Given the description of an element on the screen output the (x, y) to click on. 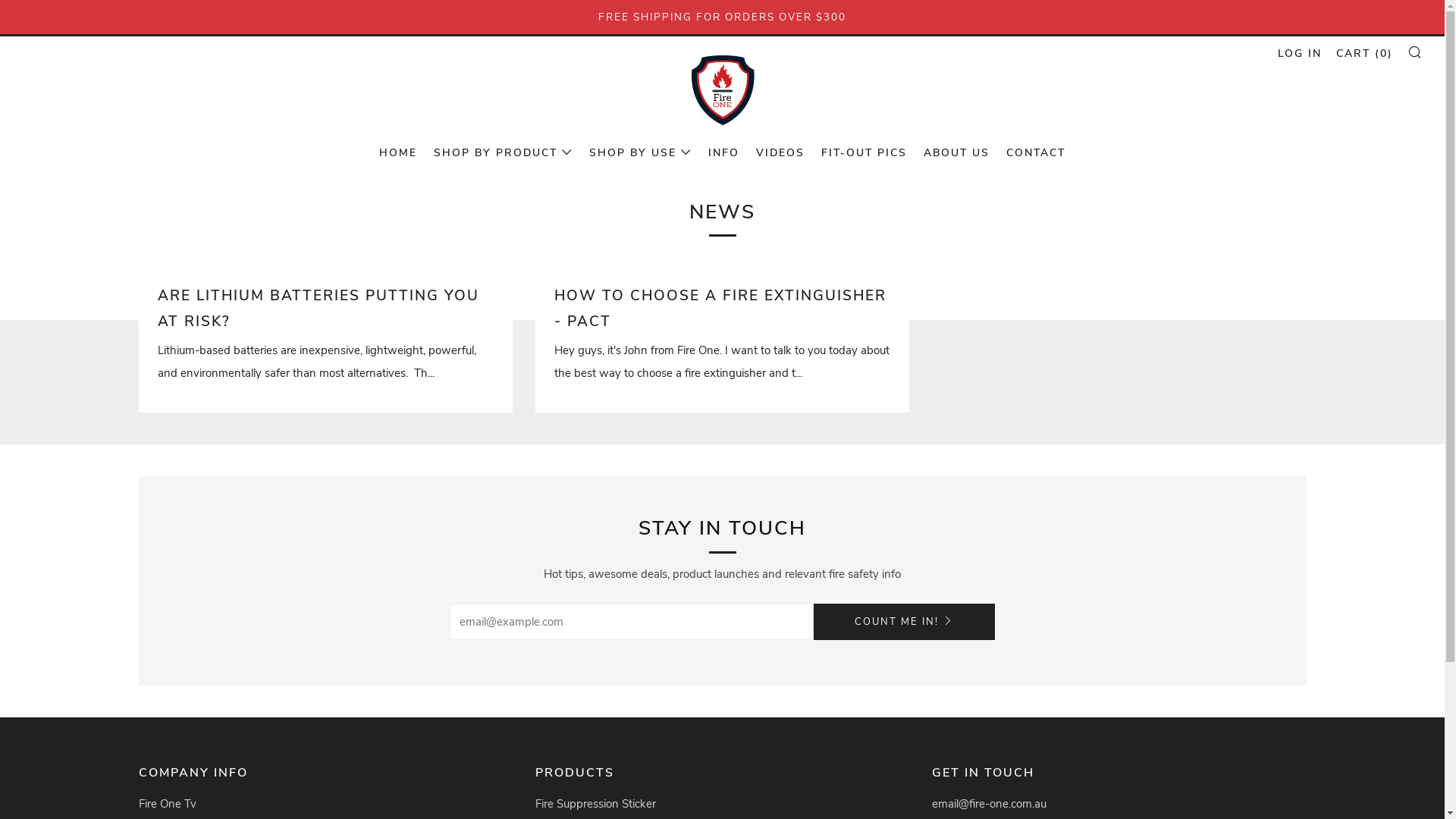
HOME Element type: text (398, 152)
LOG IN Element type: text (1299, 53)
SHOP BY PRODUCT Element type: text (502, 152)
email@fire-one.com.au Element type: text (988, 803)
ABOUT US Element type: text (956, 152)
SHOP BY USE Element type: text (640, 152)
FREE SHIPPING FOR ORDERS OVER $300 Element type: text (722, 17)
INFO Element type: text (723, 152)
Fire Suppression Sticker Element type: text (595, 803)
FIT-OUT PICS Element type: text (863, 152)
CART (0) Element type: text (1364, 53)
COUNT ME IN! Element type: text (903, 621)
SEARCH Element type: text (1414, 51)
VIDEOS Element type: text (780, 152)
Fire One Tv Element type: text (166, 803)
ARE LITHIUM BATTERIES PUTTING YOU AT RISK? Element type: text (325, 308)
HOW TO CHOOSE A FIRE EXTINGUISHER - PACT Element type: text (722, 308)
CONTACT Element type: text (1035, 152)
